Given the description of an element on the screen output the (x, y) to click on. 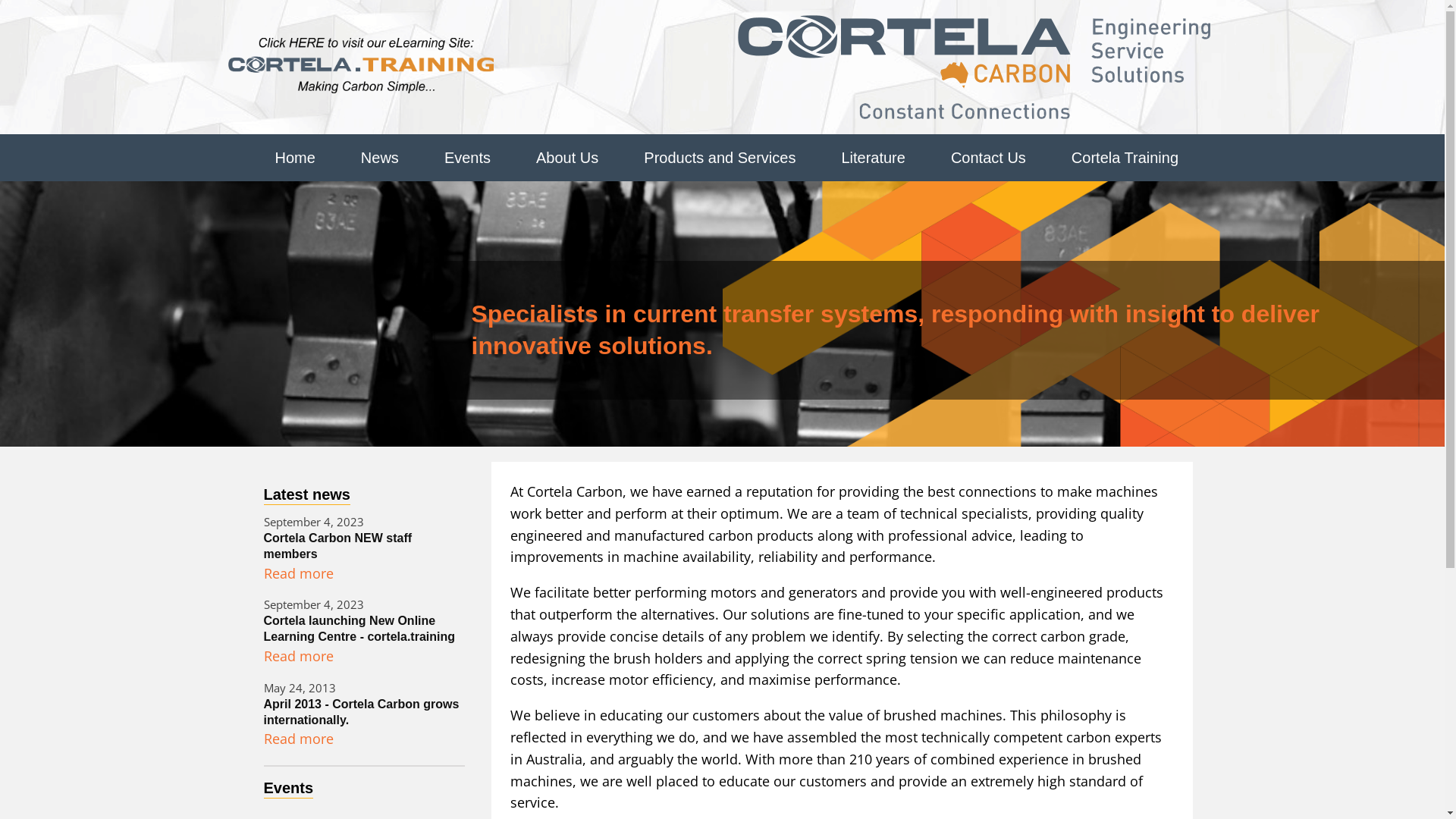
Home Element type: text (294, 157)
Products and Services Element type: text (719, 157)
Literature Element type: text (873, 157)
Cortela Training Element type: text (1124, 157)
About Us Element type: text (567, 157)
Read more Element type: text (298, 656)
News Element type: text (379, 157)
Latest news Element type: text (306, 494)
Events Element type: text (288, 788)
Contact Us Element type: text (988, 157)
Read more Element type: text (298, 573)
Events Element type: text (467, 157)
Read more Element type: text (298, 738)
